Given the description of an element on the screen output the (x, y) to click on. 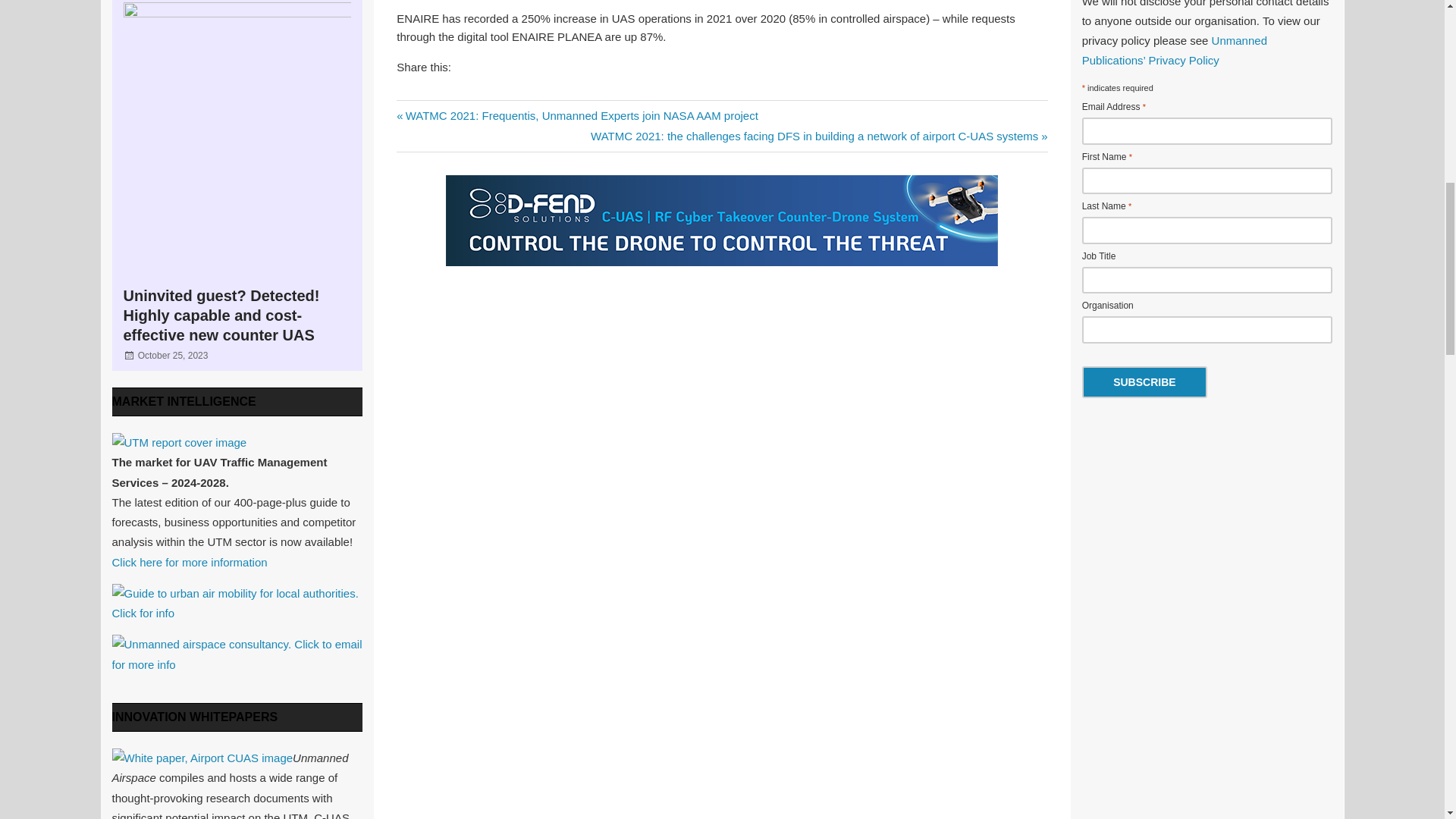
Click here for more information (189, 562)
October 25, 2023 (173, 355)
Subscribe (1144, 382)
9:33 am (173, 355)
